Given the description of an element on the screen output the (x, y) to click on. 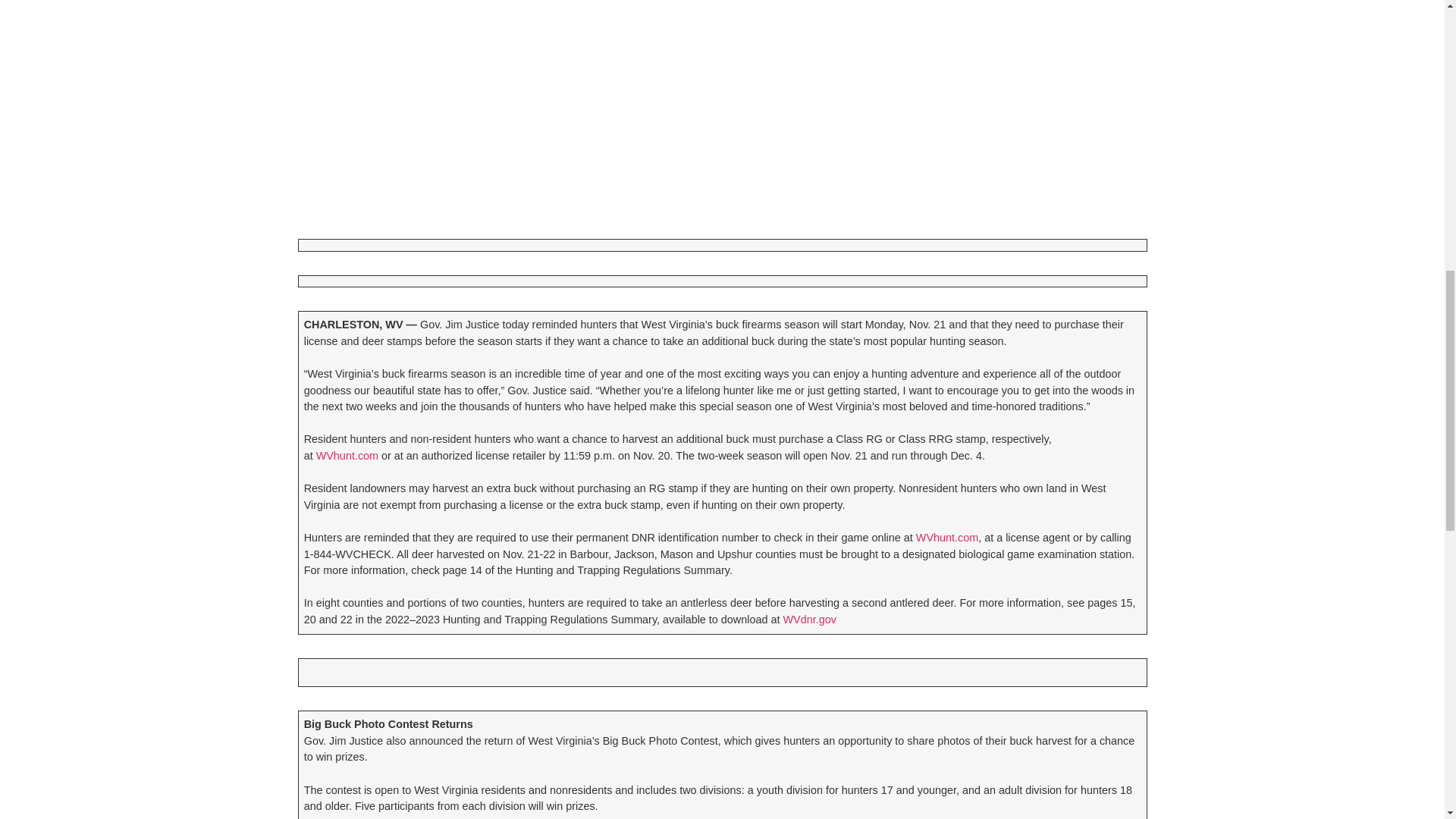
WVhunt.com (346, 455)
WVdnr.gov (809, 619)
WVhunt.com (946, 537)
